Given the description of an element on the screen output the (x, y) to click on. 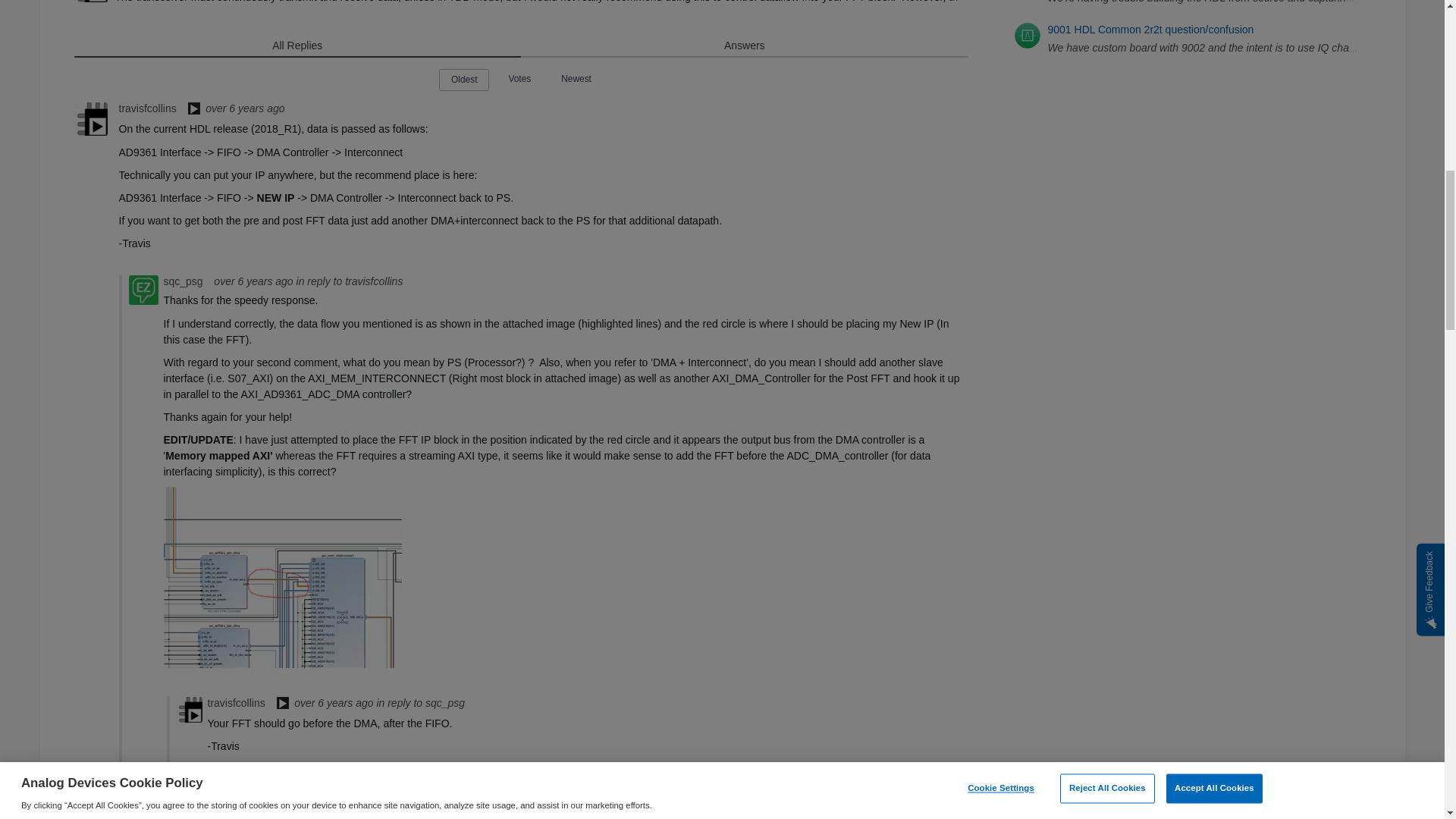
Analog Employees (282, 703)
Analog Employees (193, 109)
